Given the description of an element on the screen output the (x, y) to click on. 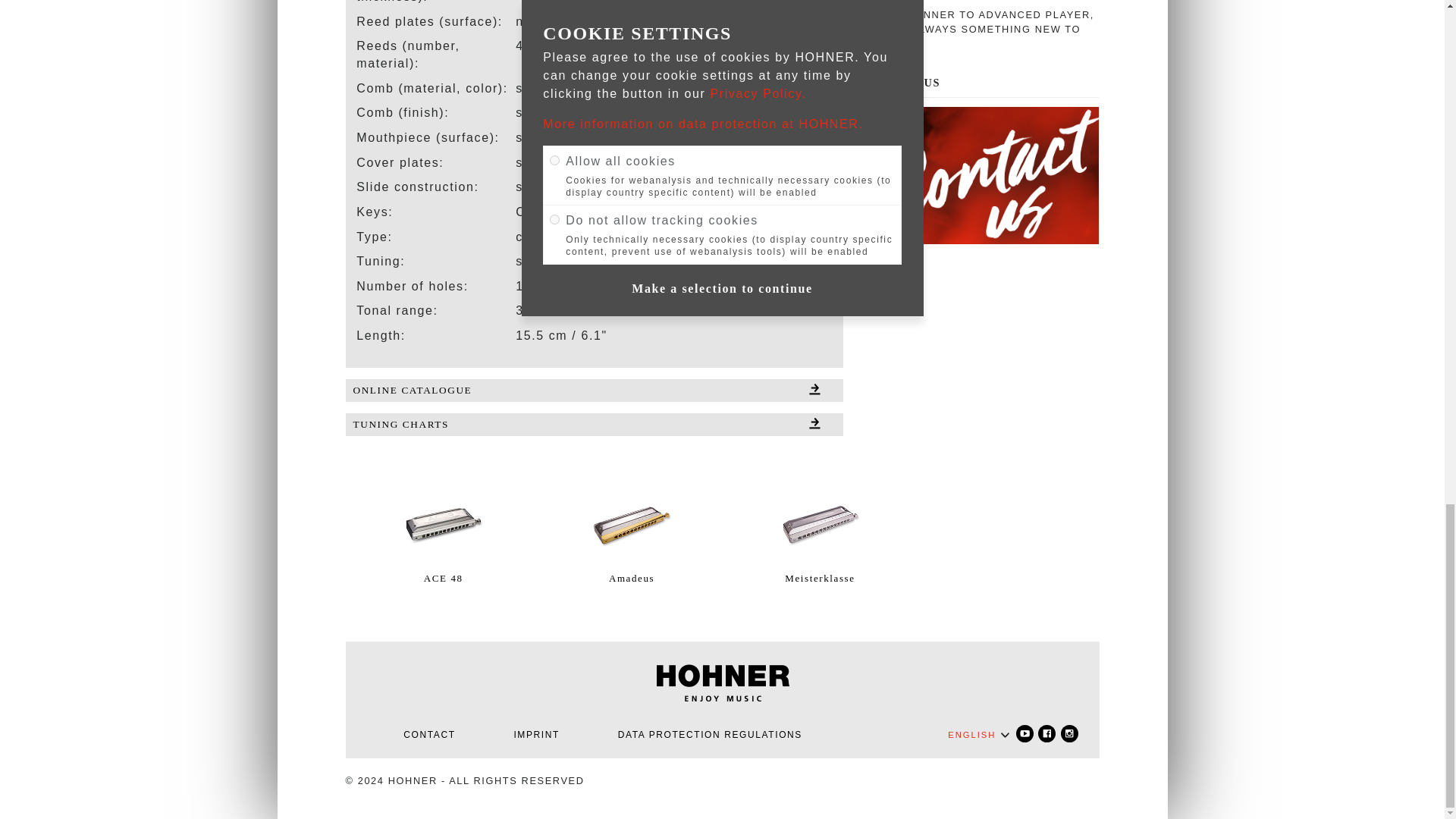
Meisterklasse (820, 523)
ACE 48 (443, 523)
Amadeus (630, 523)
